Given the description of an element on the screen output the (x, y) to click on. 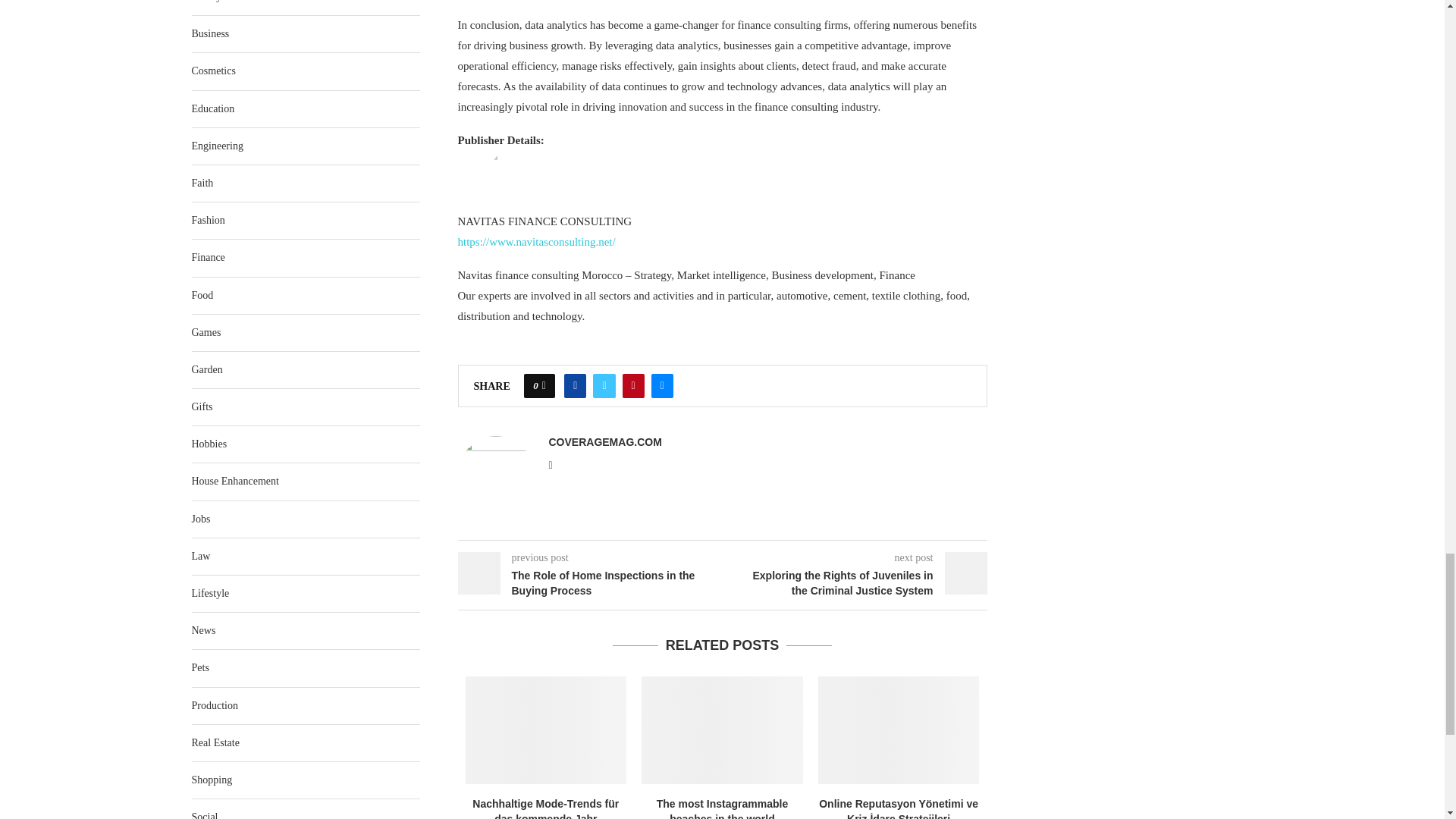
The most Instagrammable beaches in the world (722, 729)
Author coveragemag.com (605, 441)
COVERAGEMAG.COM (605, 441)
Like (543, 385)
